Given the description of an element on the screen output the (x, y) to click on. 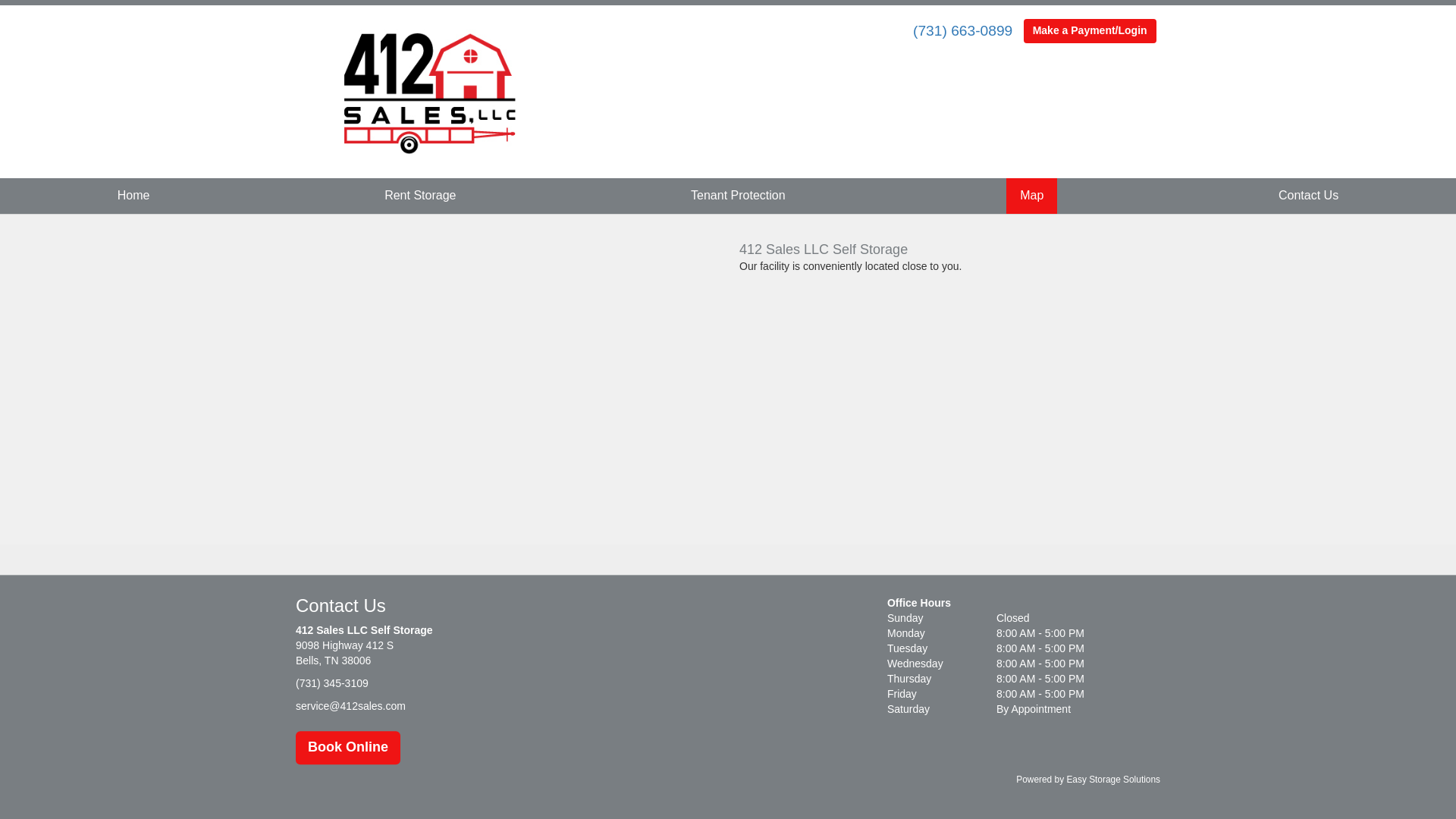
Home Element type: text (133, 195)
Tenant Protection Element type: text (738, 195)
Map Element type: text (1031, 195)
service@412sales.com Element type: text (350, 705)
Contact Us Element type: text (1308, 195)
Make a Payment/Login Element type: text (1089, 30)
(731) 345-3109 Element type: text (331, 683)
Rent Storage Element type: text (419, 195)
Easy Storage Solutions Element type: text (1113, 779)
Book Online Element type: text (347, 747)
(731) 663-0899 Element type: text (962, 30)
